Given the description of an element on the screen output the (x, y) to click on. 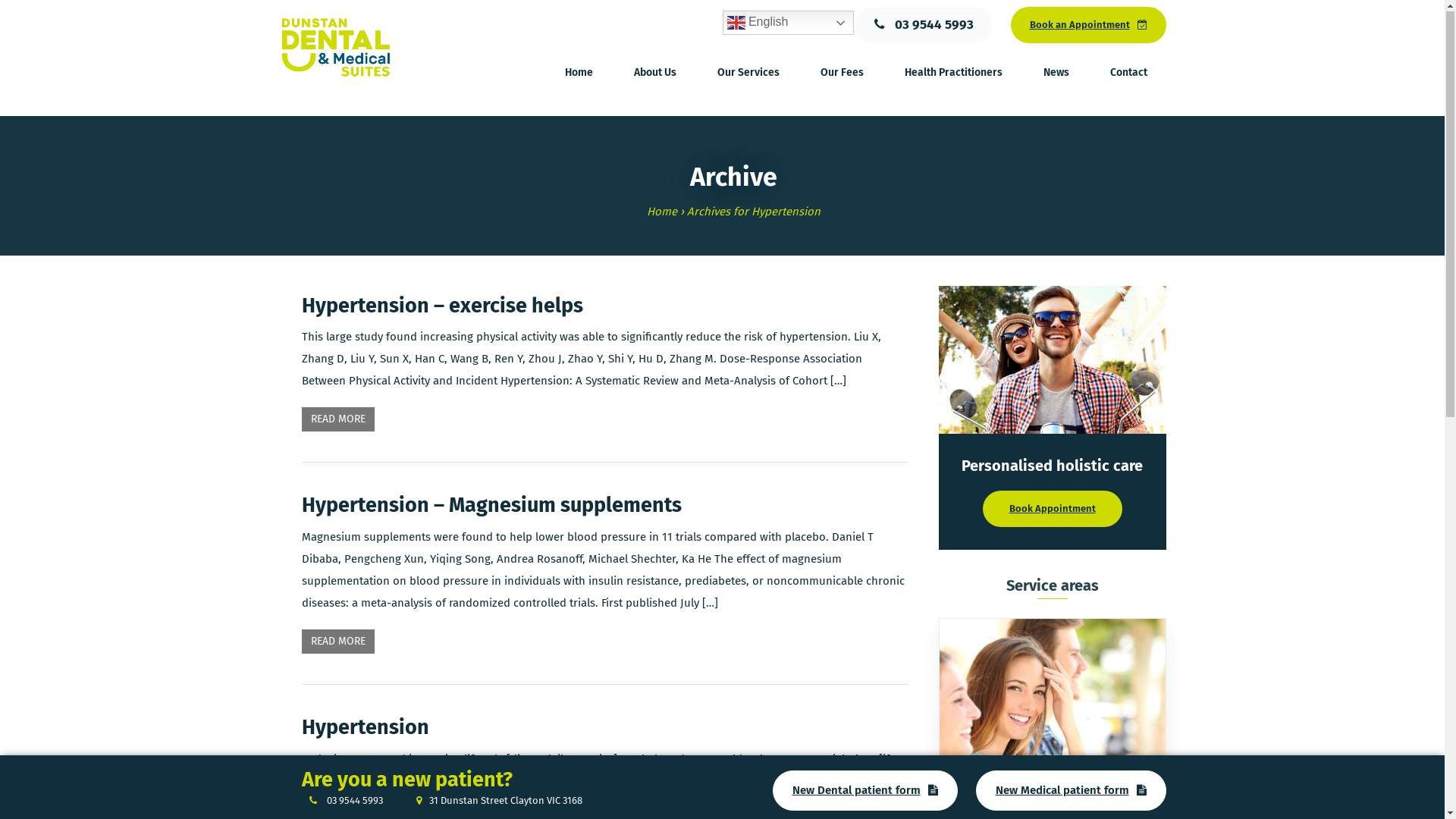
Our Services Element type: text (747, 74)
Dunstan Dental Element type: hover (335, 47)
English Element type: text (787, 23)
Hypertension Element type: text (365, 727)
Health Practitioners Element type: text (953, 73)
Health Practitioners Element type: text (953, 74)
Our Fees Element type: text (840, 73)
03 9544 5993 Element type: text (923, 25)
03 9544 5993 Element type: text (923, 26)
Dunstan Dental Element type: hover (335, 46)
About Us Element type: text (654, 73)
Contact Element type: text (1127, 74)
READ MORE Element type: text (337, 642)
Home Element type: text (578, 74)
News Element type: text (1055, 74)
Home Element type: text (578, 73)
31 Dunstan Street Clayton VIC 3168 Element type: text (490, 800)
Book Appointment Element type: text (1052, 509)
Book an Appointment Element type: text (1087, 26)
News Element type: text (1055, 73)
Contact Element type: text (1127, 73)
Search Element type: text (1110, 24)
Book an Appointment Element type: text (1087, 25)
03 9544 5993 Element type: text (345, 800)
Our Fees Element type: text (840, 74)
Our Services Element type: text (747, 73)
About Us Element type: text (654, 74)
READ MORE Element type: text (337, 419)
Home Element type: text (661, 211)
English Element type: text (787, 24)
New Medical patient form Element type: text (1070, 791)
New Dental patient form Element type: text (864, 791)
